Given the description of an element on the screen output the (x, y) to click on. 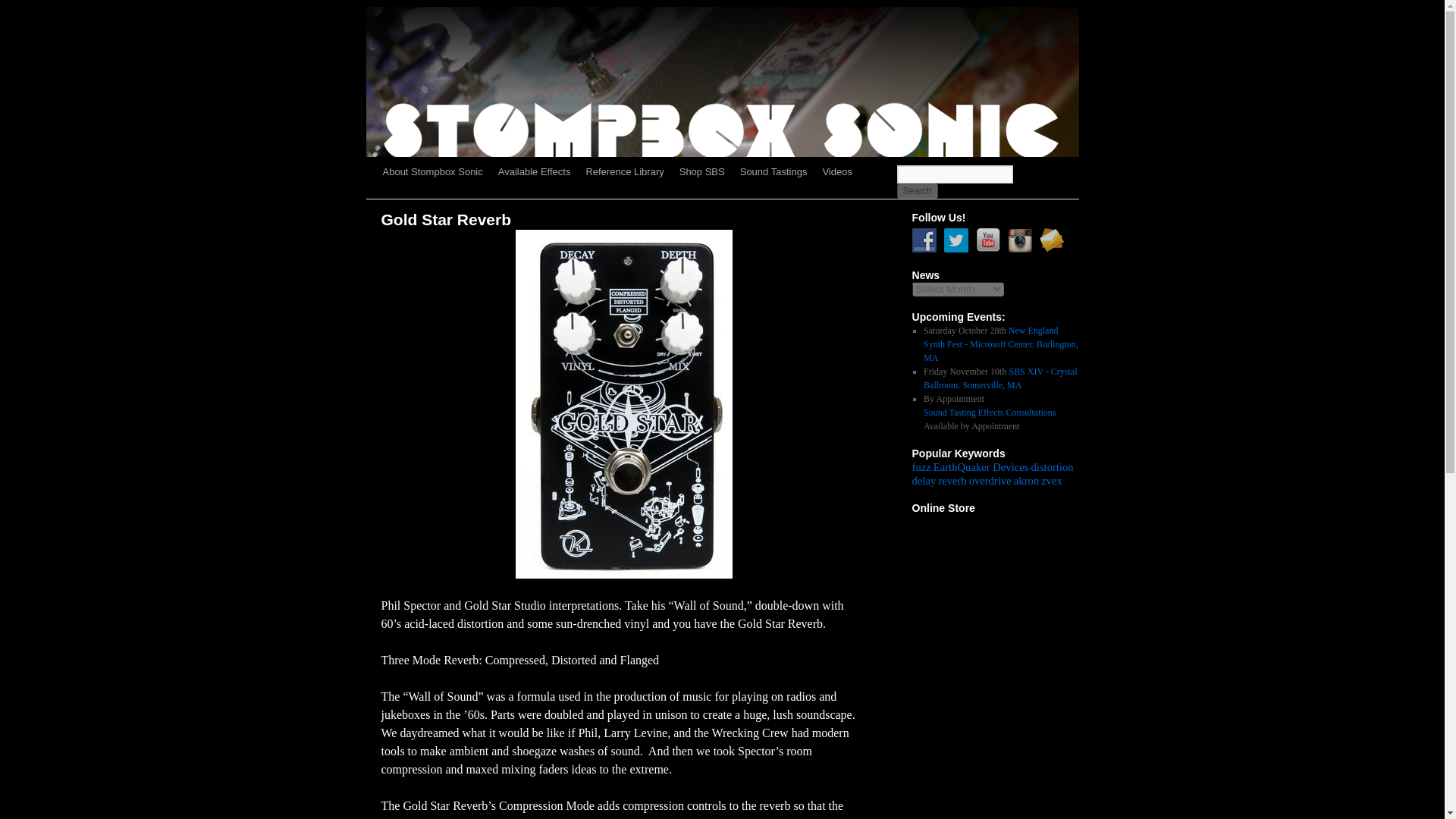
delay (923, 480)
Shop SBS (701, 172)
fuzz (920, 467)
SBS XIV - Crystal Ballroom. Somerville, MA (1000, 378)
akron (1026, 480)
About Stompbox Sonic (431, 172)
New England Synth Fest - Microsoft Center. Burlington, MA (1000, 344)
Follow Us on Facebook (923, 240)
46 topics (981, 467)
Reference Library (624, 172)
overdrive (990, 480)
Videos (836, 172)
reverb (951, 480)
Follow Us on Instagram (1018, 240)
Sound Tasting Effects Consultations (989, 412)
